Given the description of an element on the screen output the (x, y) to click on. 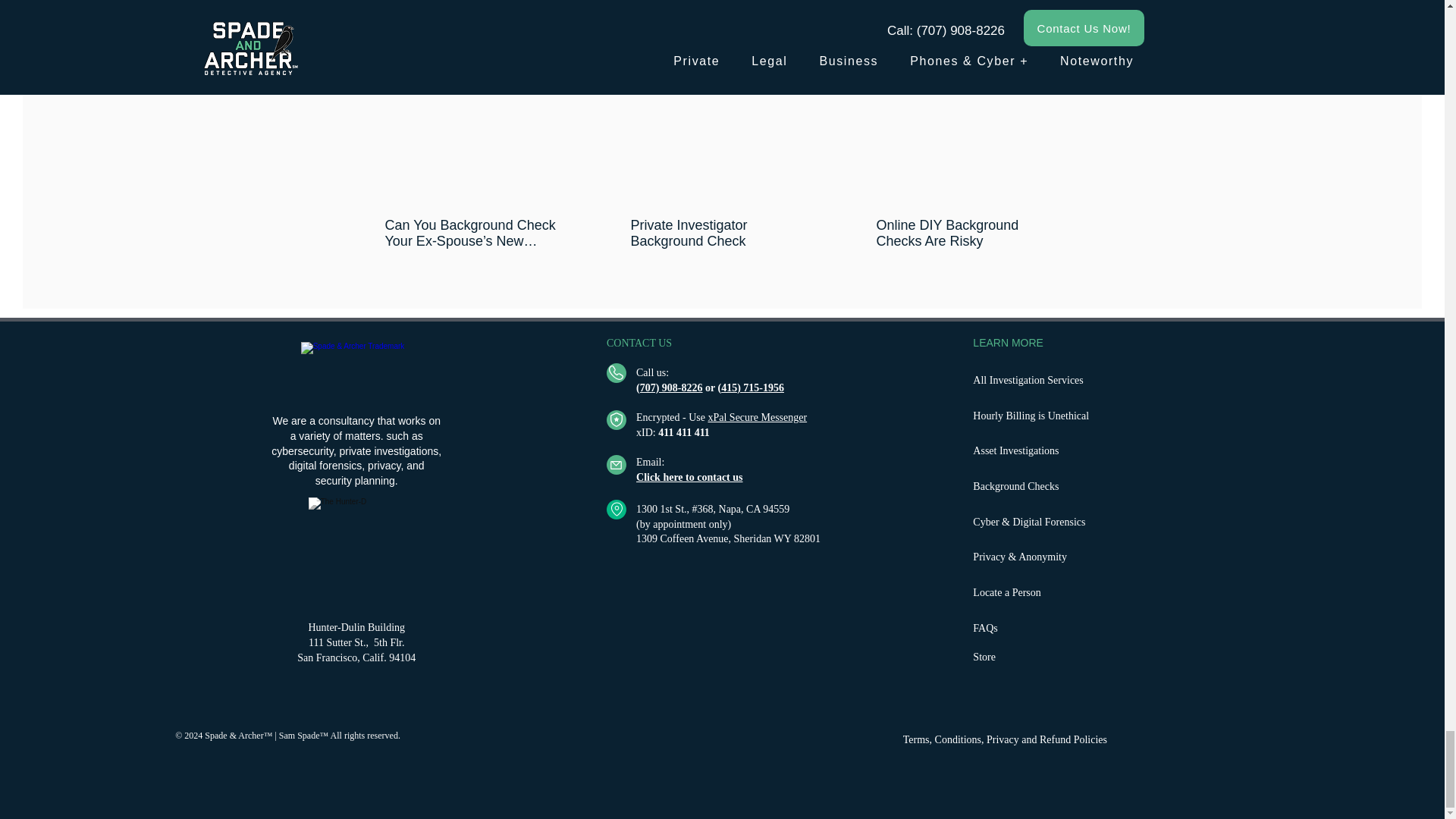
Return to home page (356, 372)
See All (1061, 49)
Online DIY Background Checks Are Risky (967, 233)
Private Investigator Background Check (721, 233)
